Given the description of an element on the screen output the (x, y) to click on. 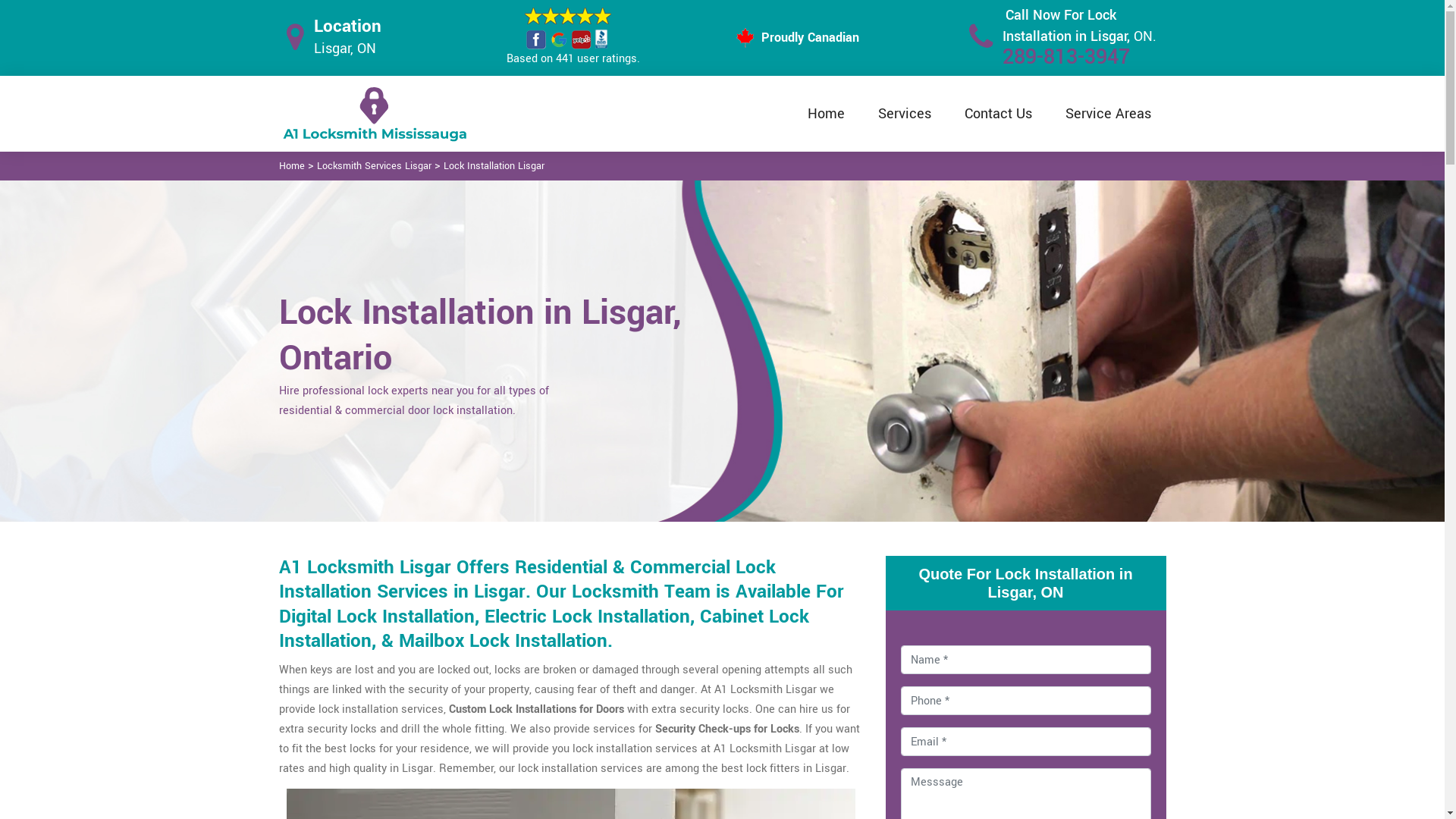
Lock Installation Lisgar Element type: text (492, 165)
Contact Us Element type: text (998, 113)
Home Element type: text (825, 113)
289-813-3947 Element type: text (1065, 57)
Service Areas Element type: text (1107, 113)
Locksmith Services Lisgar Element type: text (373, 165)
Home Element type: text (291, 165)
Services Element type: text (904, 113)
